Given the description of an element on the screen output the (x, y) to click on. 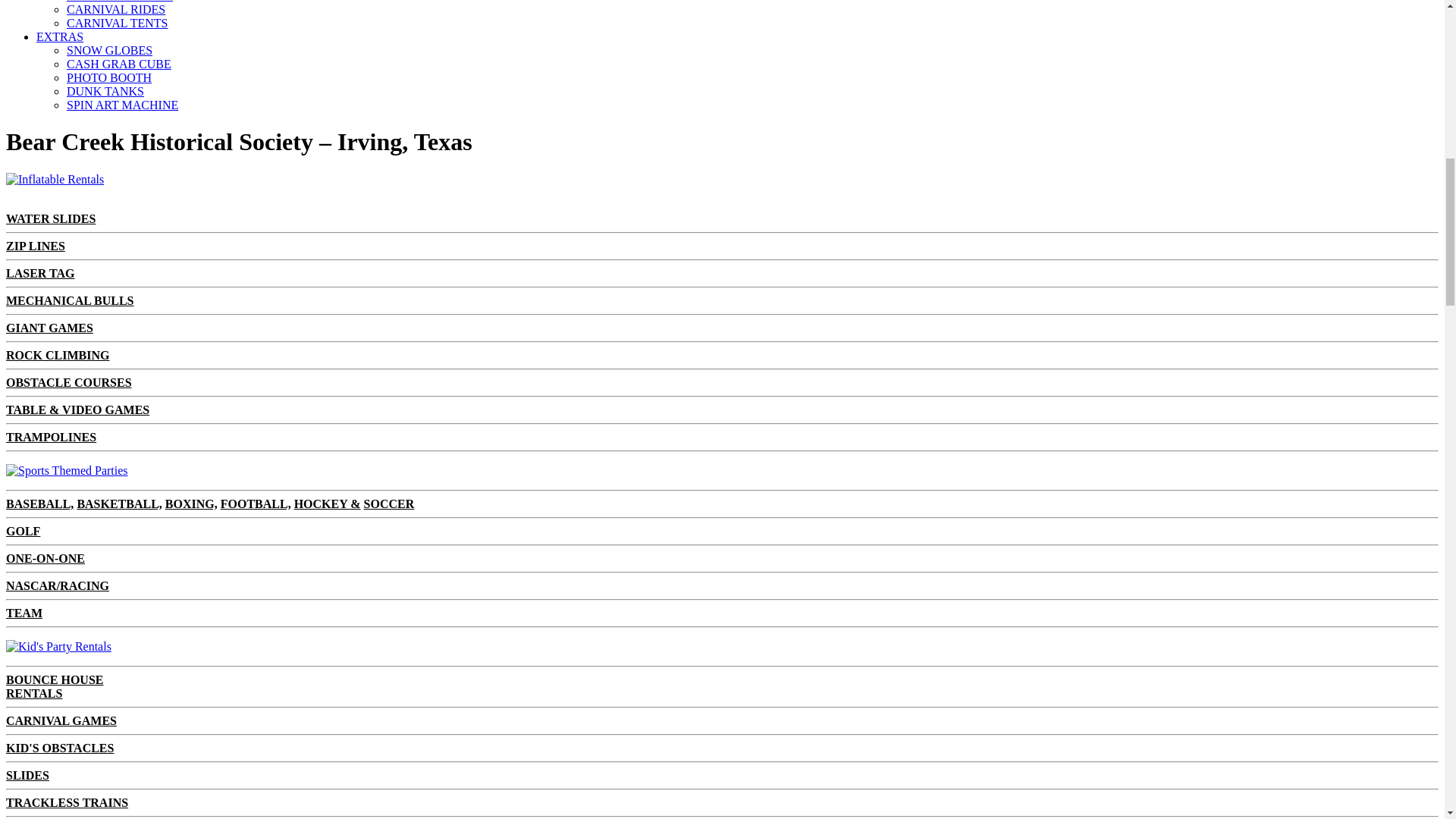
Listing of Water Slide Rentals (50, 218)
Rock Climbing Walls You Can Rent (57, 354)
Mechanical bull rentals available (69, 300)
Inflatable obstacle course rentals - Photos and descriptions (68, 382)
Giant Game Rentals (49, 327)
List of Inflatable Zip Lines for Rent (35, 245)
Browse laser tag equipment for rent (40, 273)
